Given the description of an element on the screen output the (x, y) to click on. 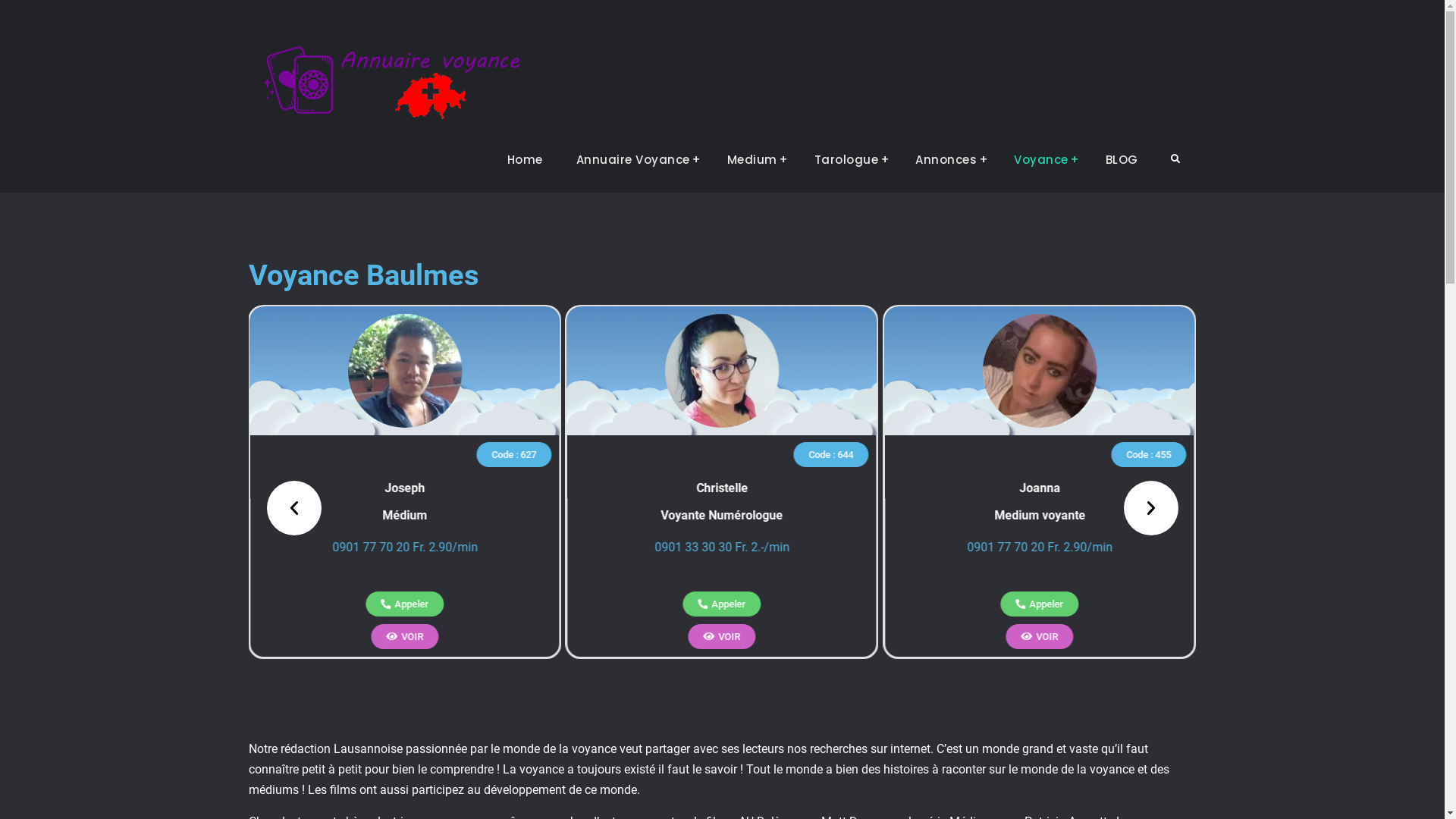
BLOG Element type: text (1121, 159)
VOIR Element type: text (1039, 636)
Appeler Element type: text (1039, 603)
VOIR Element type: text (405, 636)
Code : 455 Element type: text (1148, 453)
Annonces Element type: text (947, 159)
Appeler Element type: text (722, 603)
Home Element type: text (524, 159)
Annuaire Voyance Element type: text (635, 159)
Voyance Element type: text (1042, 159)
Code : 644 Element type: text (831, 453)
VOIR Element type: text (722, 636)
Tarologue Element type: text (848, 159)
Appeler Element type: text (405, 603)
Medium Element type: text (753, 159)
Code : 627 Element type: text (514, 453)
